Given the description of an element on the screen output the (x, y) to click on. 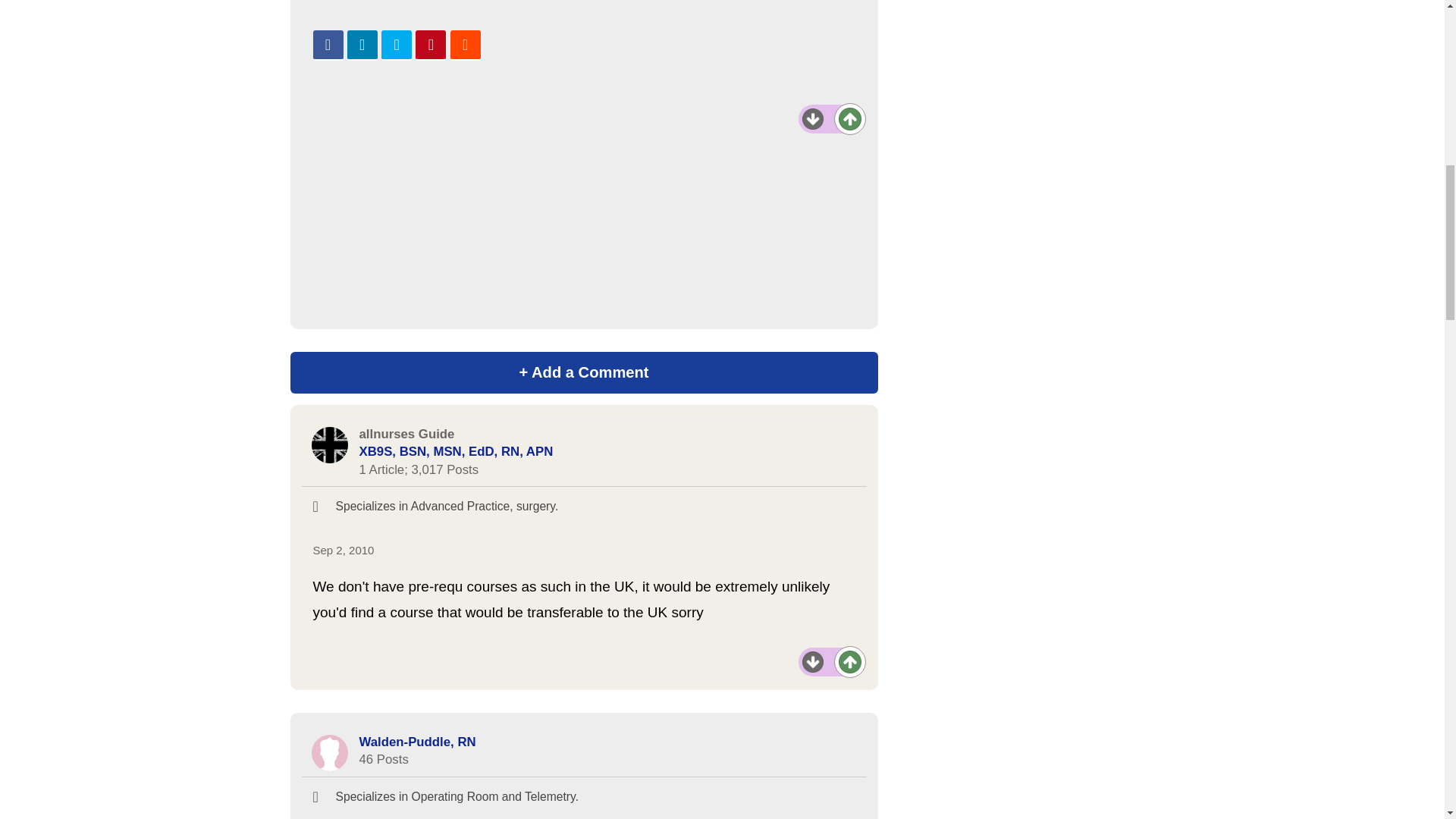
Share on LinkedIn (362, 45)
Up Vote (849, 118)
Share on Reddit (464, 45)
Down Vote (813, 118)
Share on Pinterest (429, 45)
Go to XB9S's profile (329, 444)
Share on Twitter (396, 45)
Go to XB9S's profile (456, 451)
Share on Facebook (327, 45)
